Given the description of an element on the screen output the (x, y) to click on. 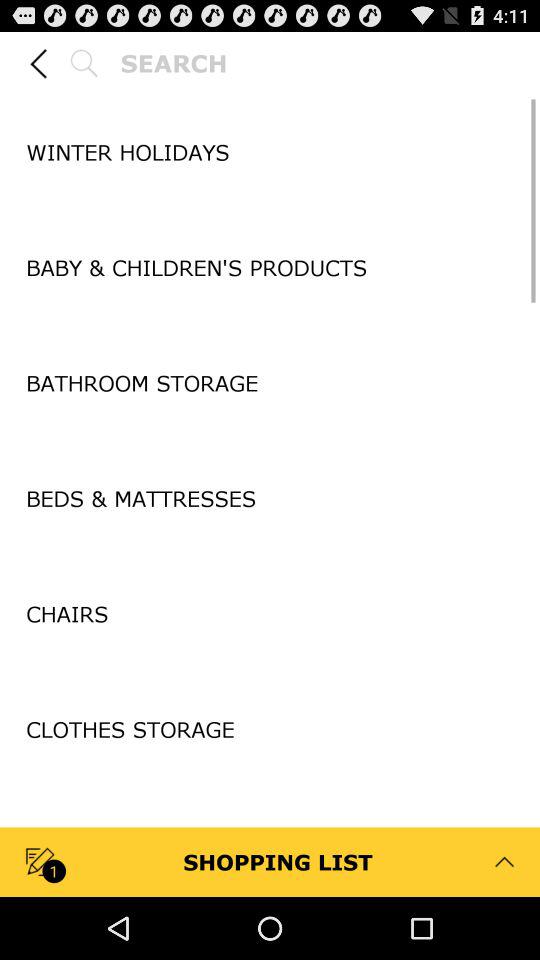
press bathroom storage (270, 382)
